Given the description of an element on the screen output the (x, y) to click on. 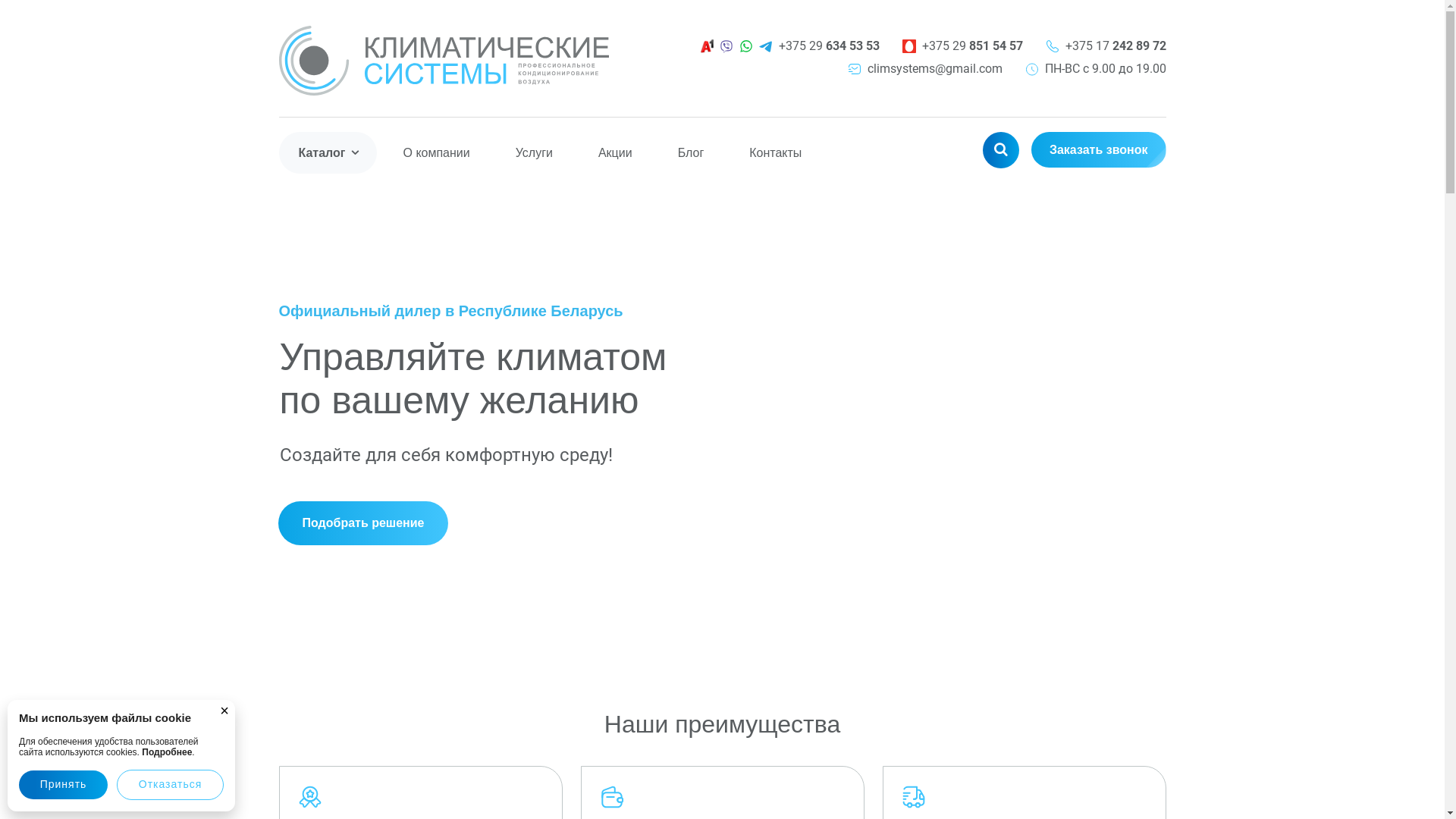
+375 29 634 53 53 Element type: text (828, 46)
empty-wallet Element type: hover (611, 796)
Open search Element type: hover (1000, 149)
climsystems@gmail.com Element type: text (934, 68)
+375 17 242 89 72 Element type: text (1114, 46)
truck-fast Element type: hover (912, 796)
medal-star Element type: hover (309, 796)
+375 29 851 54 57 Element type: text (972, 46)
